Given the description of an element on the screen output the (x, y) to click on. 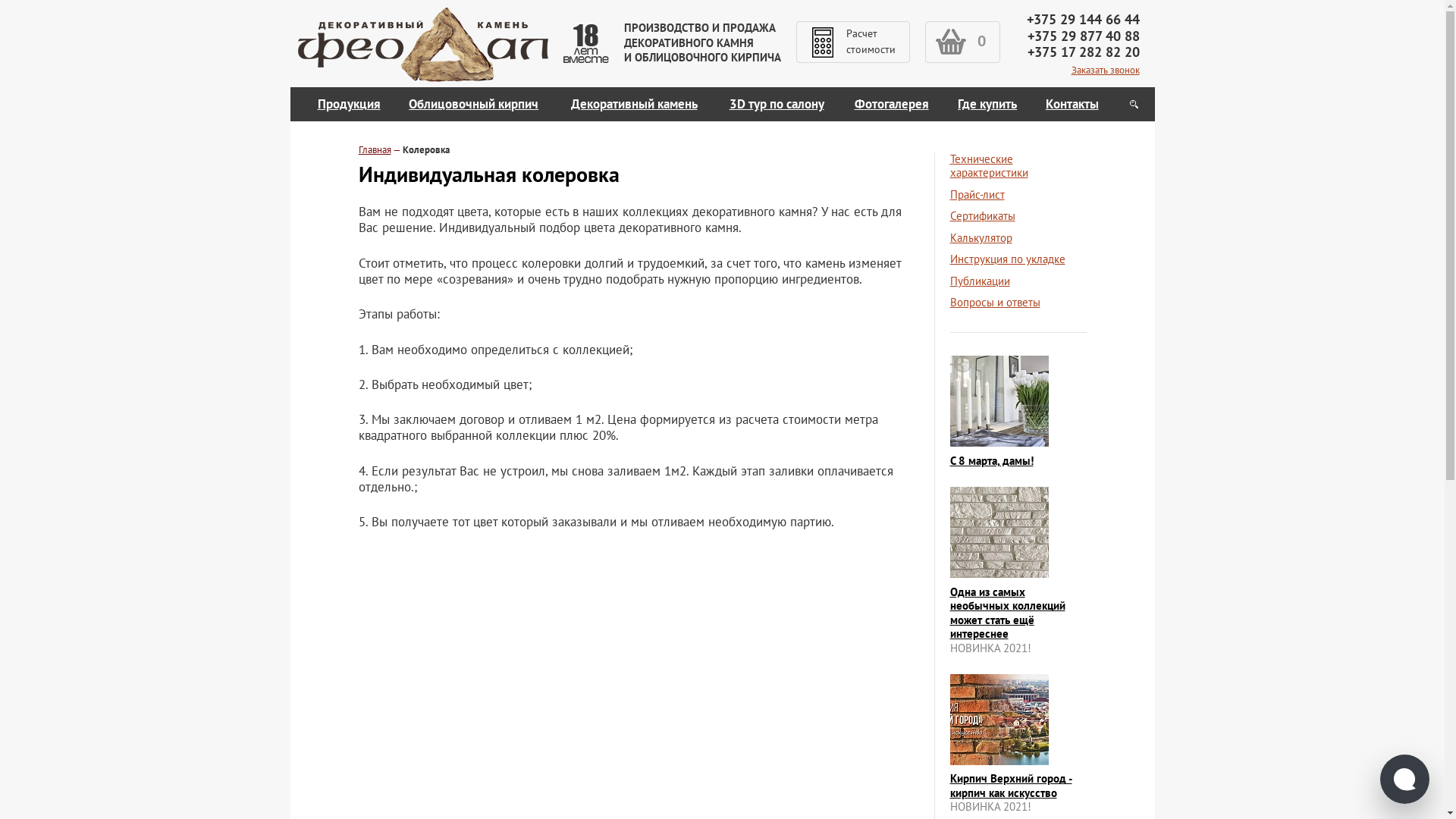
0 Element type: text (962, 41)
